Given the description of an element on the screen output the (x, y) to click on. 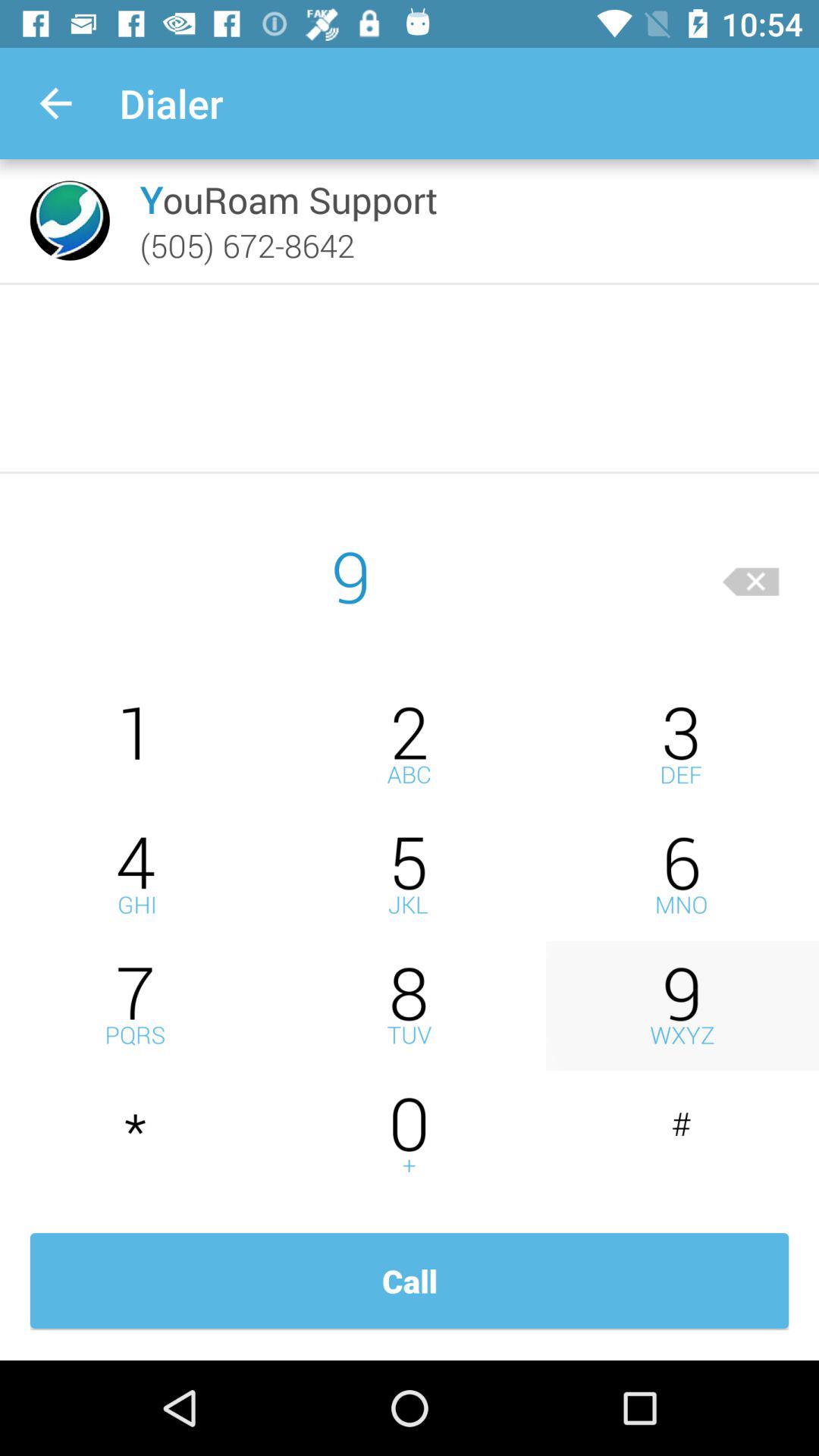
press number 2 (409, 745)
